Given the description of an element on the screen output the (x, y) to click on. 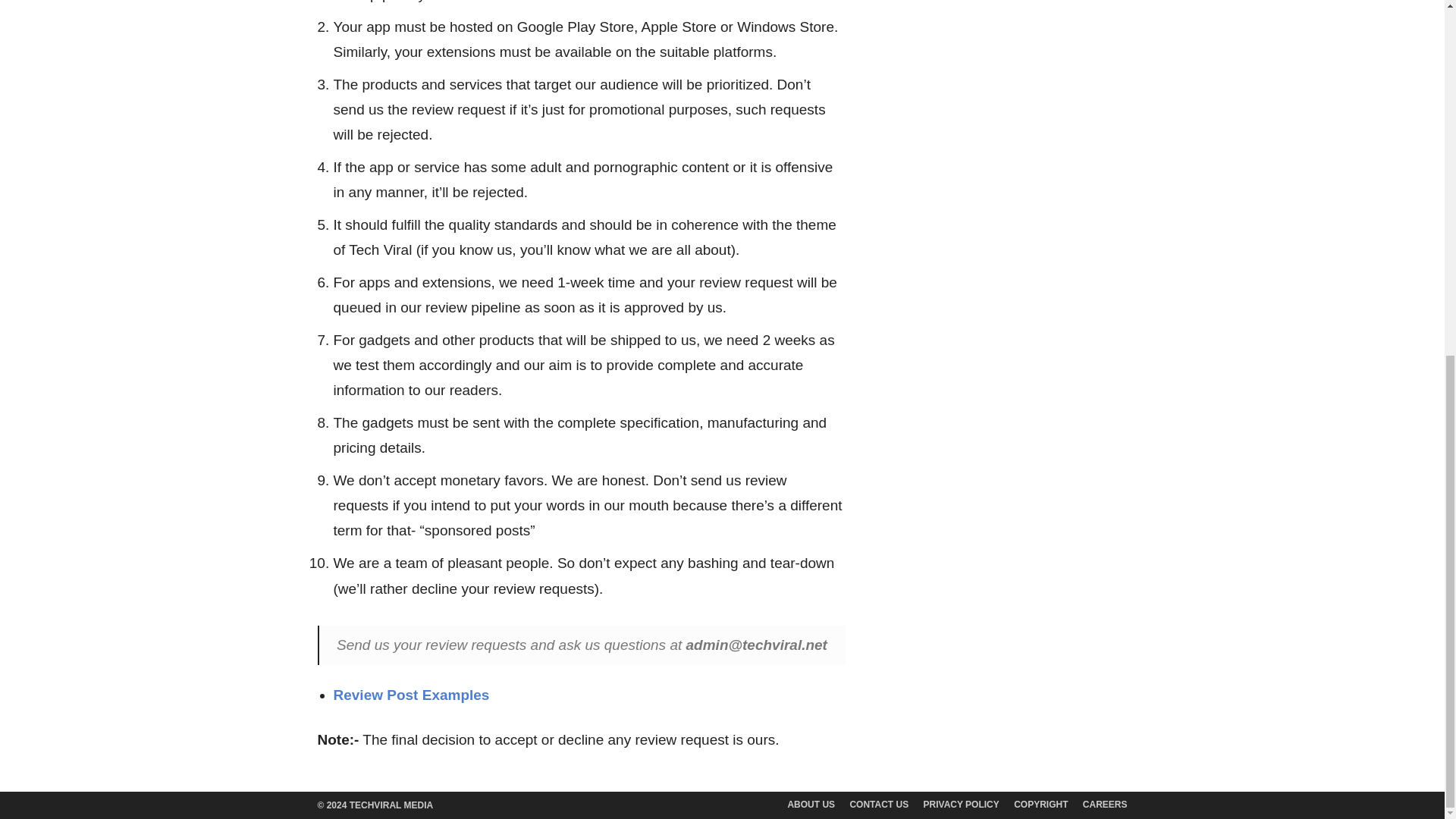
CONTACT US (878, 804)
ABOUT US (810, 804)
Review Post Examples (411, 694)
